Given the description of an element on the screen output the (x, y) to click on. 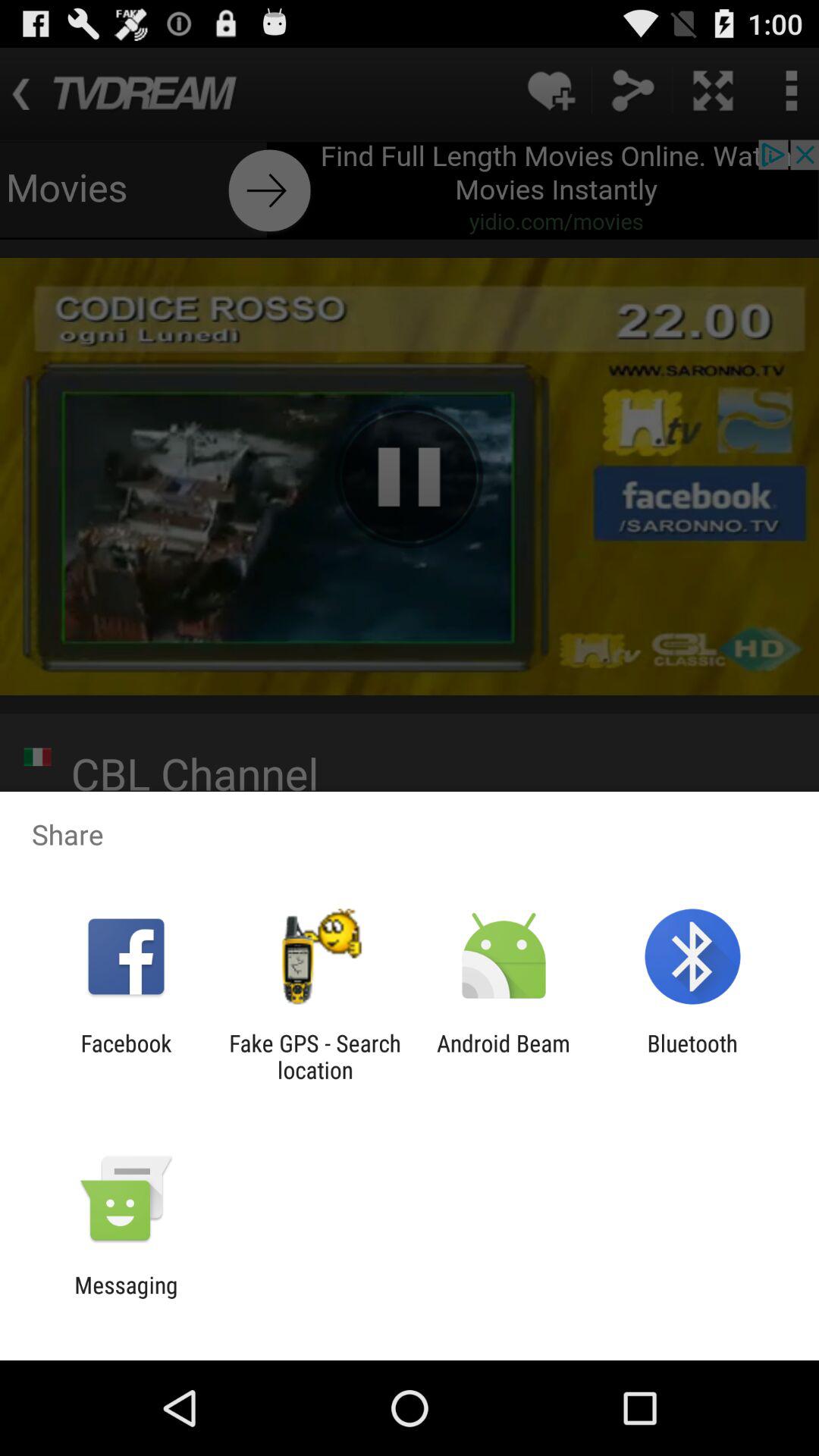
tap app to the left of android beam icon (314, 1056)
